Given the description of an element on the screen output the (x, y) to click on. 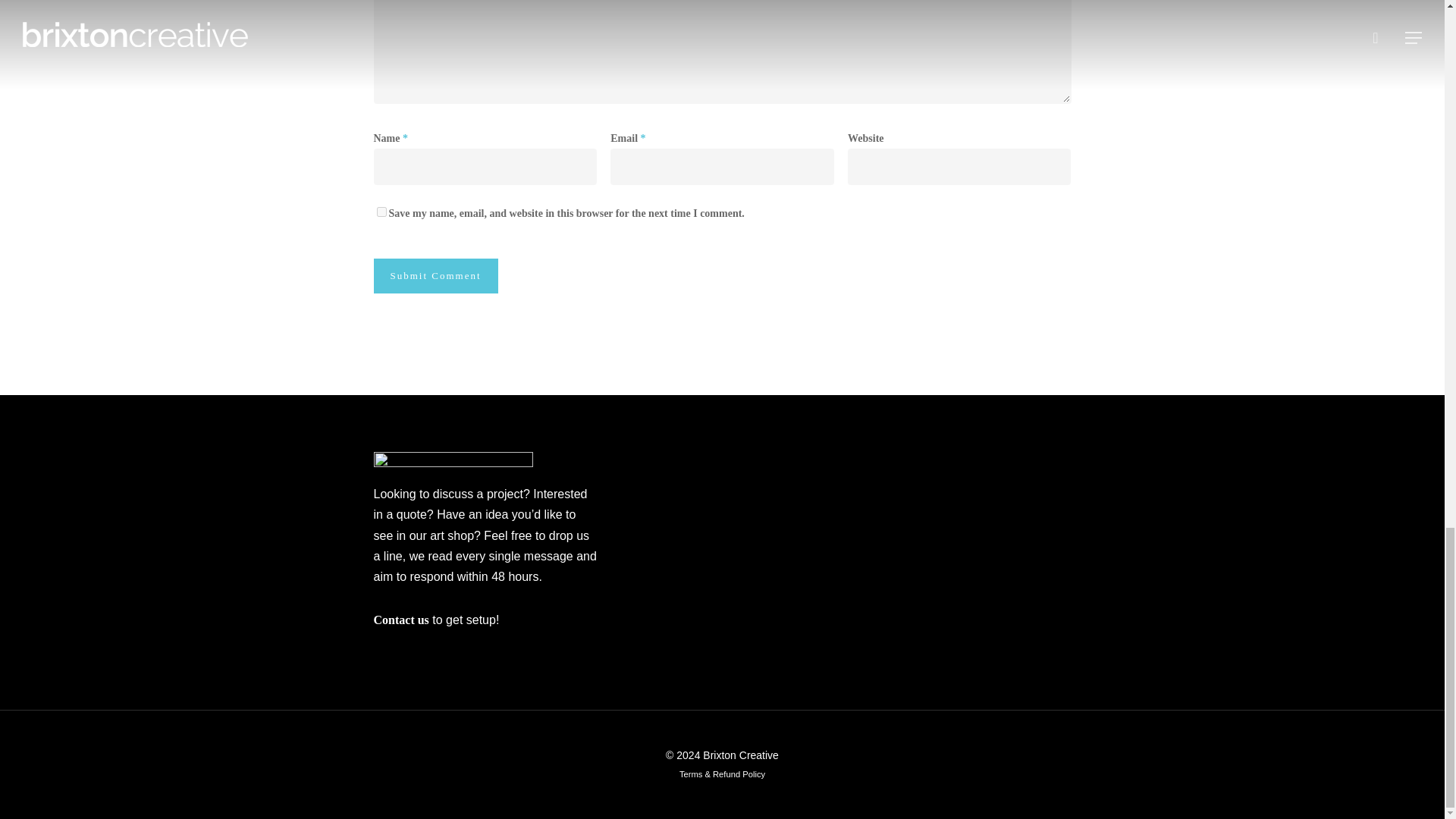
Submit Comment (434, 275)
yes (380, 212)
Contact us (400, 619)
Submit Comment (434, 275)
